Given the description of an element on the screen output the (x, y) to click on. 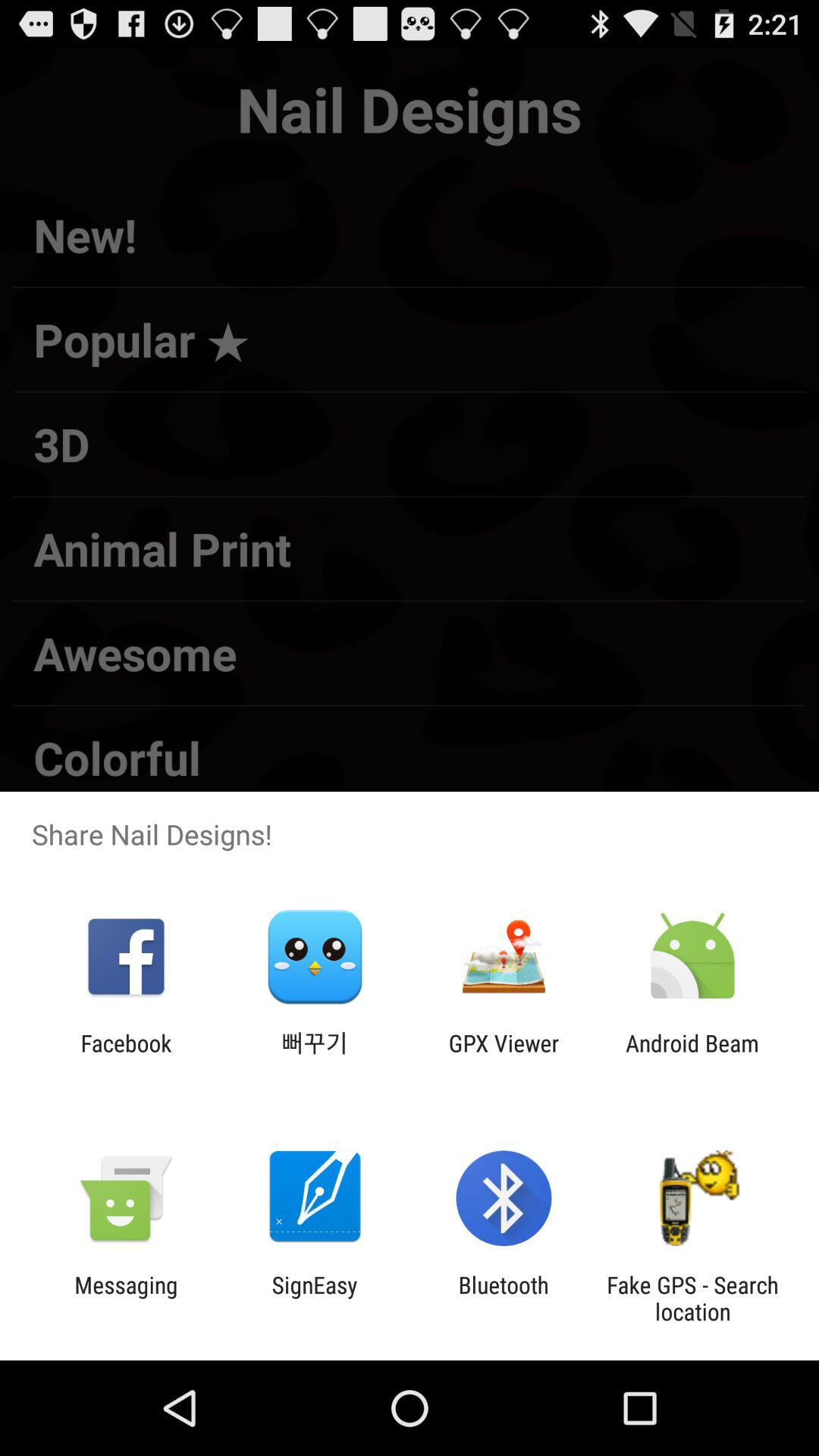
open the app next to bluetooth app (692, 1298)
